Given the description of an element on the screen output the (x, y) to click on. 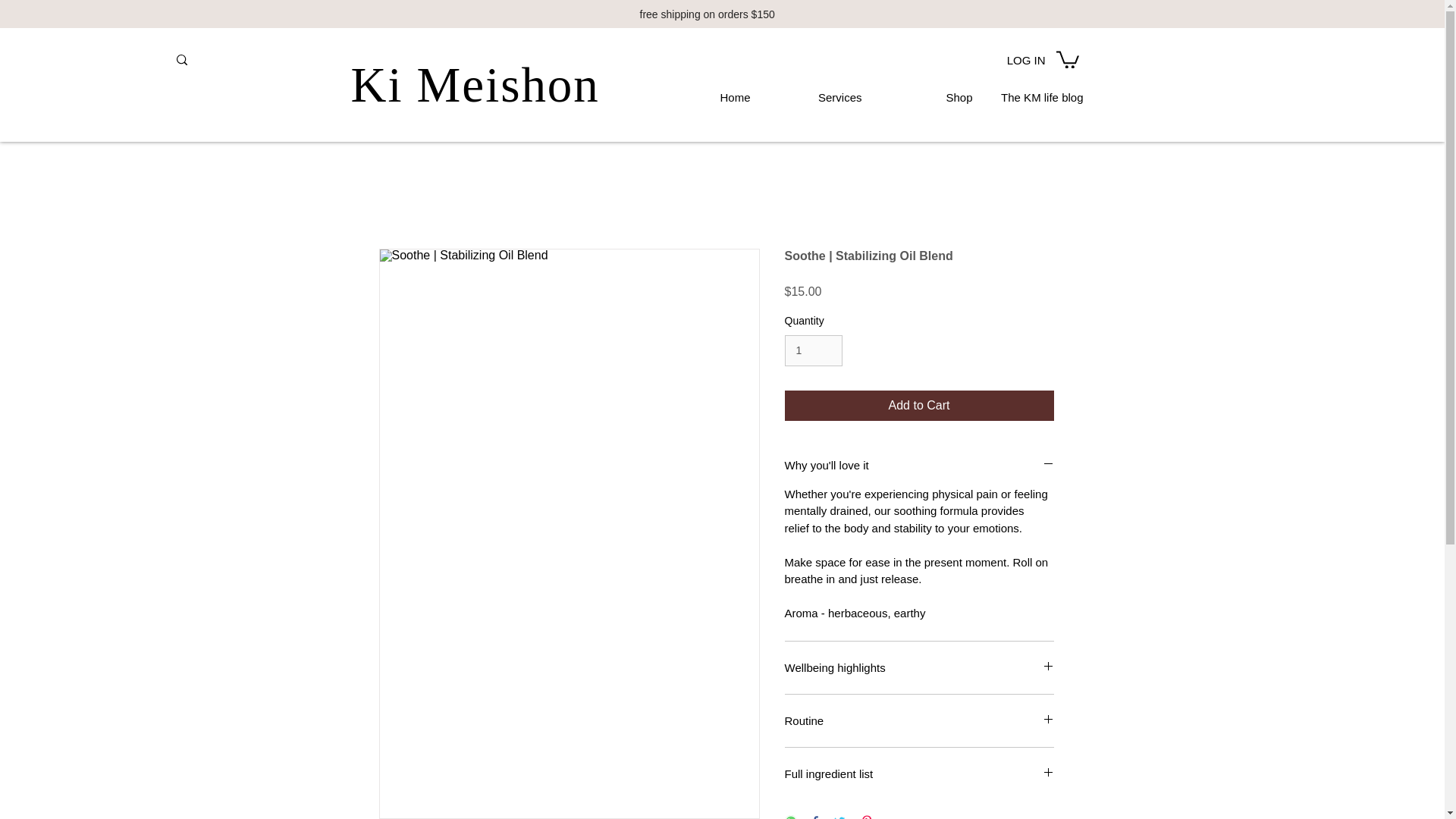
Routine (918, 720)
LOG IN (1008, 59)
Home (700, 90)
Why you'll love it (918, 465)
Add to Cart (918, 405)
1 (812, 350)
Services (812, 90)
Full ingredient list (918, 773)
Wellbeing highlights (918, 667)
